Given the description of an element on the screen output the (x, y) to click on. 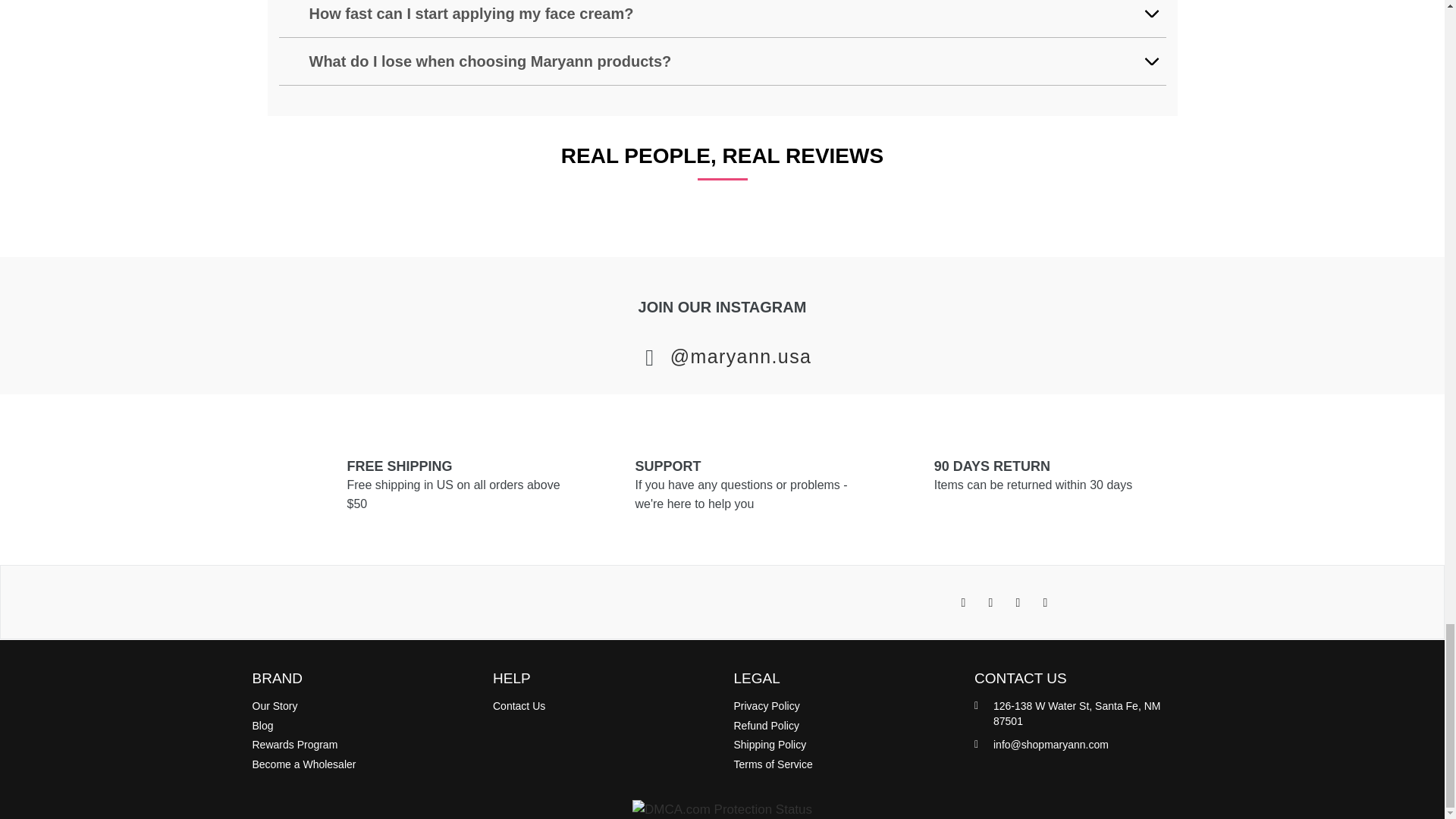
DMCA.com Protection Status (721, 809)
